Given the description of an element on the screen output the (x, y) to click on. 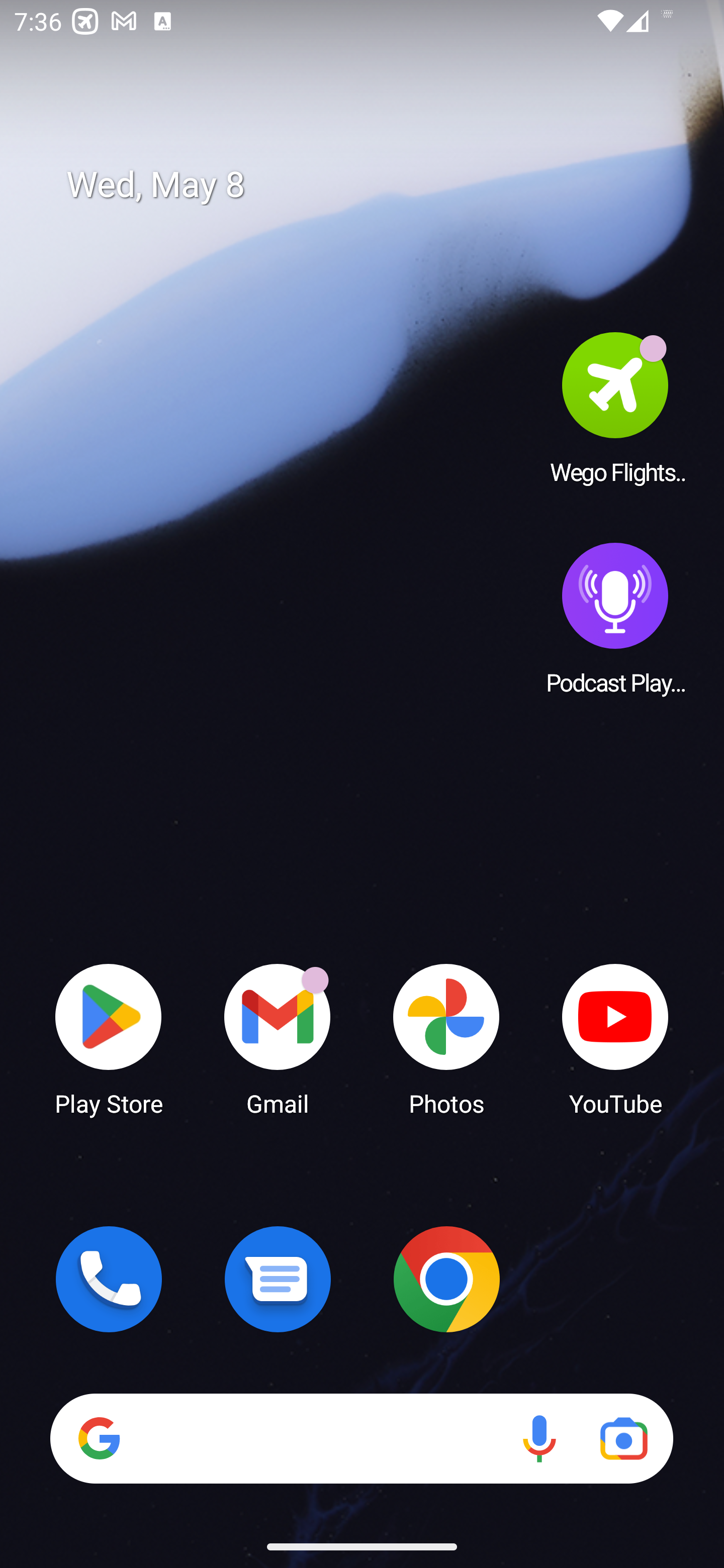
Wed, May 8 (375, 184)
Podcast Player (615, 617)
Play Store (108, 1038)
Gmail Gmail has 19 notifications (277, 1038)
Photos (445, 1038)
YouTube (615, 1038)
Phone (108, 1279)
Messages (277, 1279)
Chrome (446, 1279)
Voice search (539, 1438)
Google Lens (623, 1438)
